Given the description of an element on the screen output the (x, y) to click on. 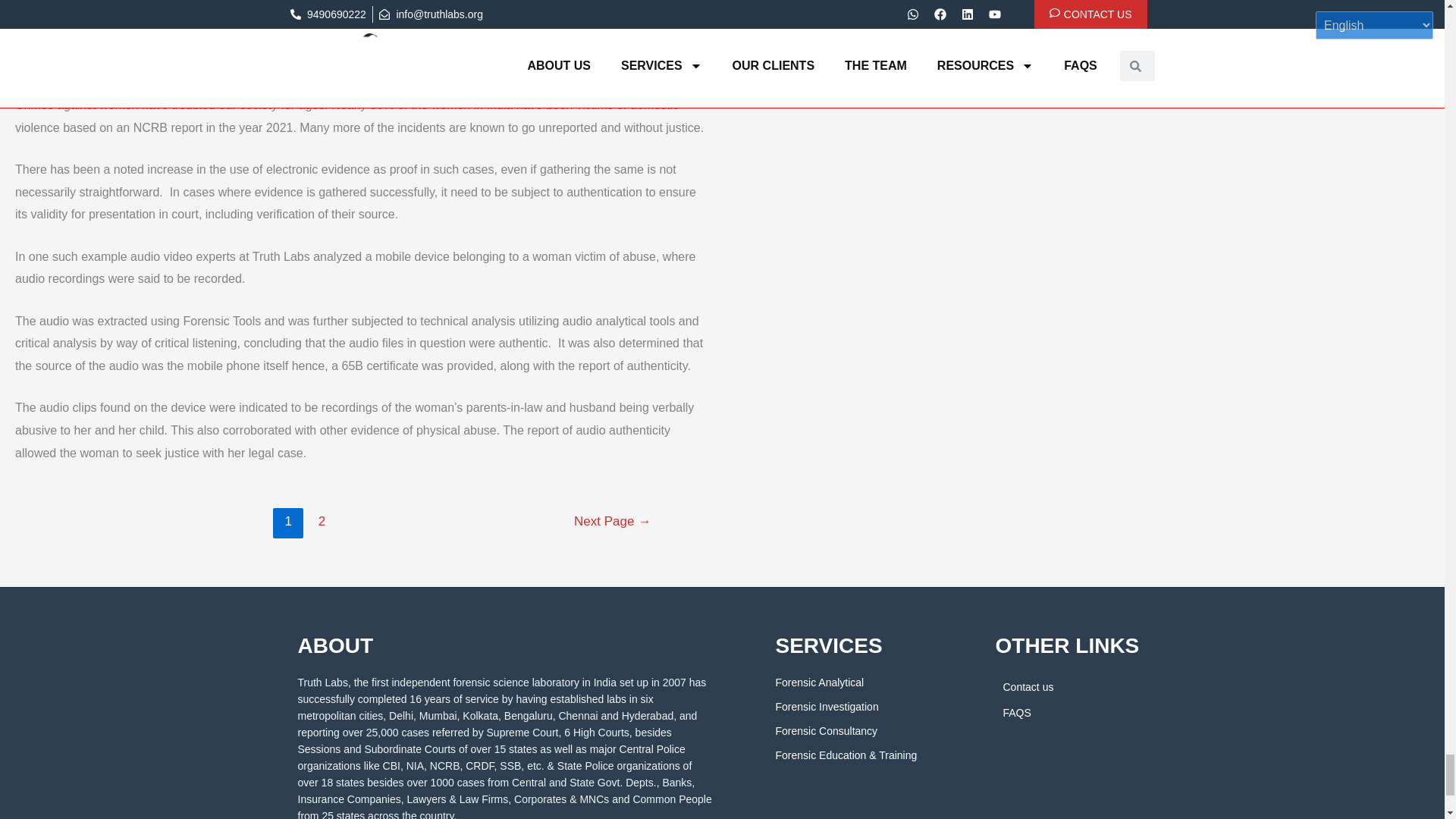
View all posts by truthlaborg (267, 72)
